Given the description of an element on the screen output the (x, y) to click on. 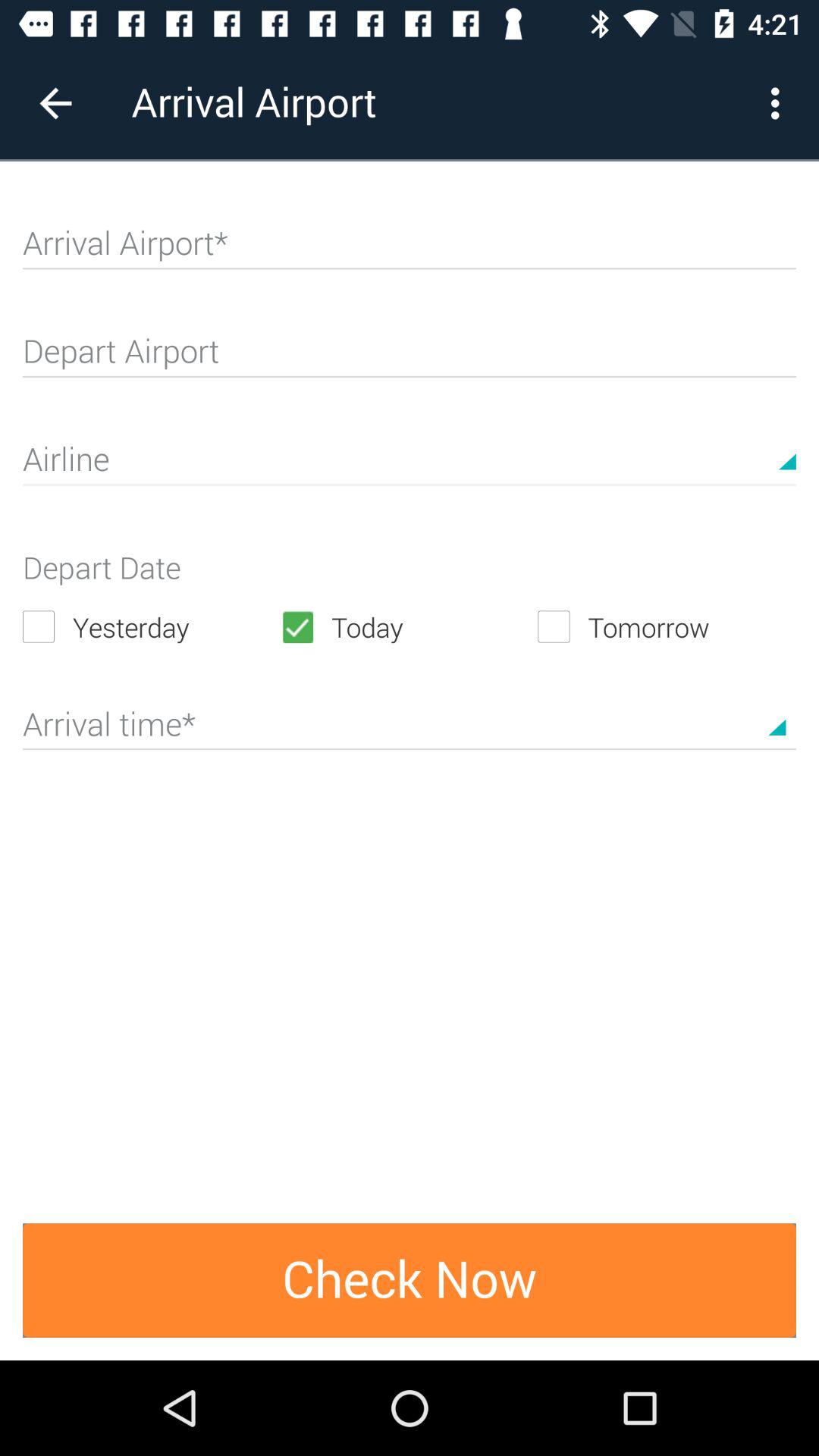
open the item next to the yesterday (409, 626)
